Given the description of an element on the screen output the (x, y) to click on. 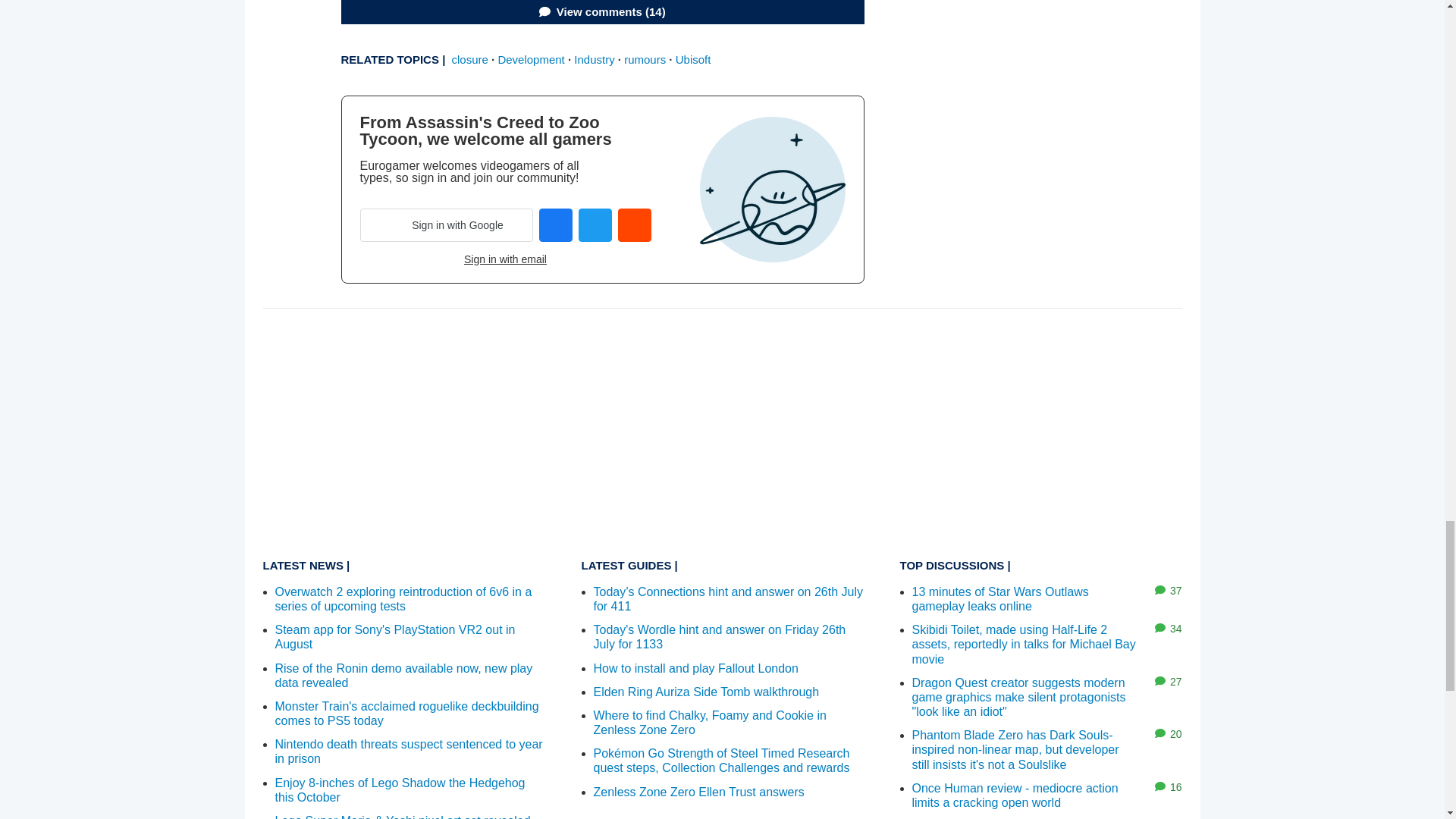
Industry (593, 59)
Development (530, 59)
closure (469, 59)
